Given the description of an element on the screen output the (x, y) to click on. 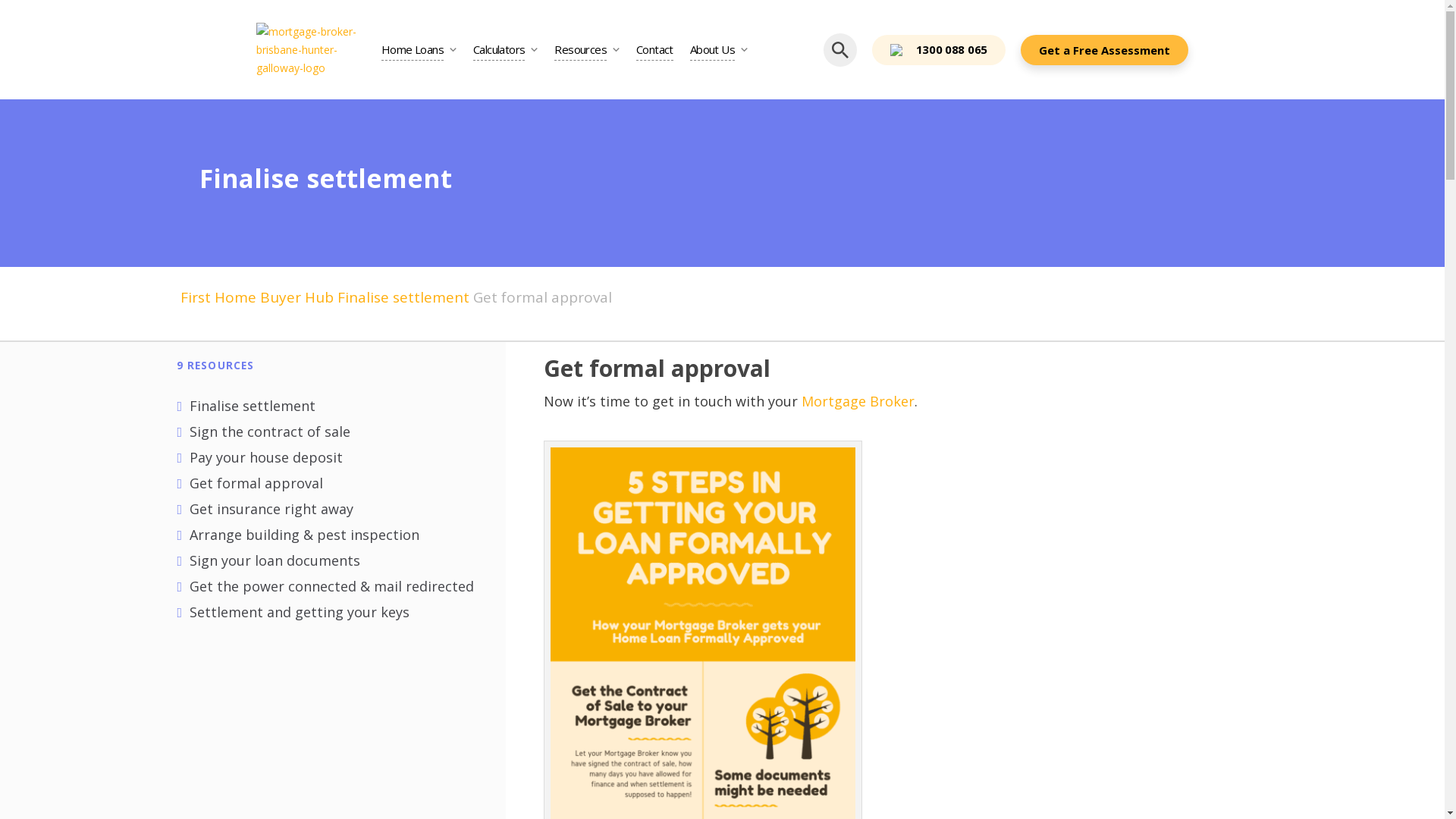
Pay your house deposit Element type: text (265, 457)
Mortgage Broker Element type: text (857, 401)
Calculators Element type: text (498, 49)
Home Loans Element type: text (412, 49)
Settlement and getting your keys Element type: text (299, 611)
Sign the contract of sale Element type: text (269, 431)
Finalise settlement Element type: text (325, 177)
Get formal approval Element type: text (256, 482)
1300 088 065 Element type: text (938, 49)
First Home Buyer Hub Element type: text (256, 297)
Sign your loan documents Element type: text (274, 560)
Finalise settlement Element type: text (252, 405)
Contact Element type: text (654, 49)
Arrange building & pest inspection Element type: text (304, 534)
Get a Free Assessment Element type: text (1104, 49)
Finalise settlement Element type: text (403, 297)
About Us Element type: text (712, 49)
Resources Element type: text (580, 49)
Get the power connected & mail redirected Element type: text (331, 586)
Get insurance right away Element type: text (271, 508)
